Given the description of an element on the screen output the (x, y) to click on. 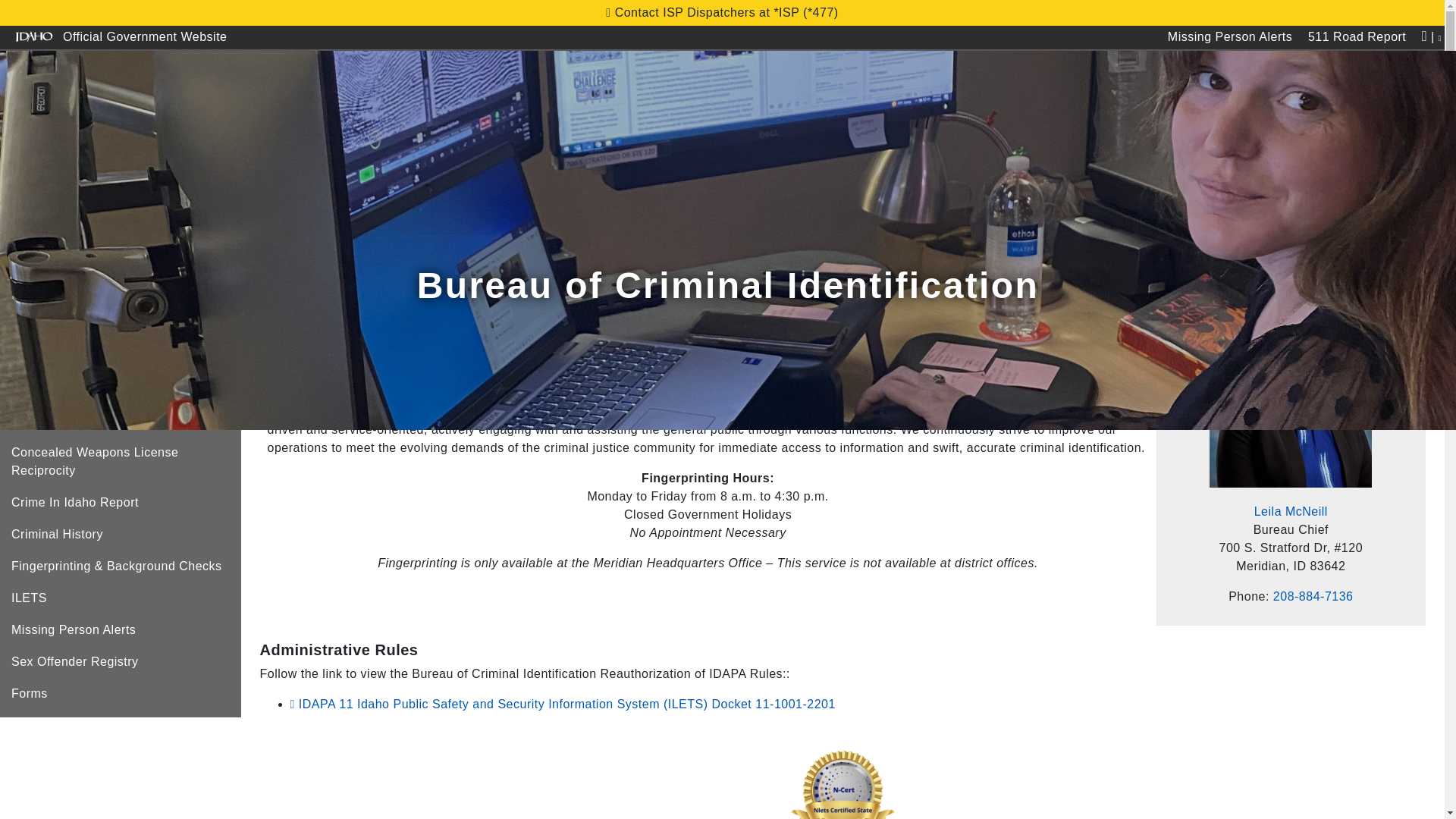
About Us (297, 119)
511 Road Report (1356, 36)
Patrol Districts (395, 119)
Missing Person Alerts (1229, 36)
home (29, 180)
Divisions (493, 119)
